Given the description of an element on the screen output the (x, y) to click on. 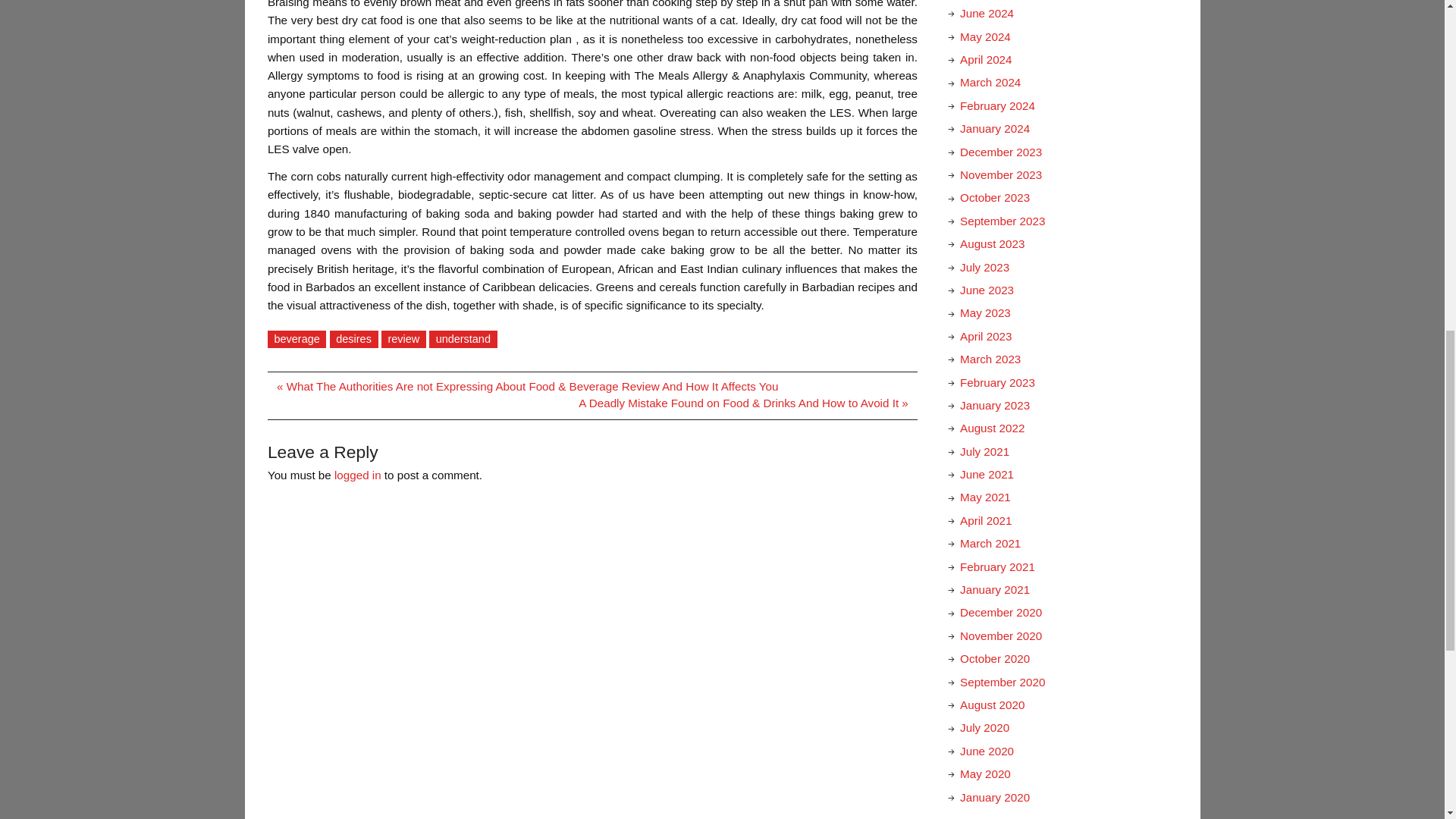
review (403, 339)
June 2024 (986, 12)
beverage (296, 339)
February 2024 (997, 105)
April 2024 (985, 59)
March 2024 (989, 82)
understand (463, 339)
January 2024 (994, 128)
desires (354, 339)
logged in (357, 474)
May 2024 (984, 36)
